Given the description of an element on the screen output the (x, y) to click on. 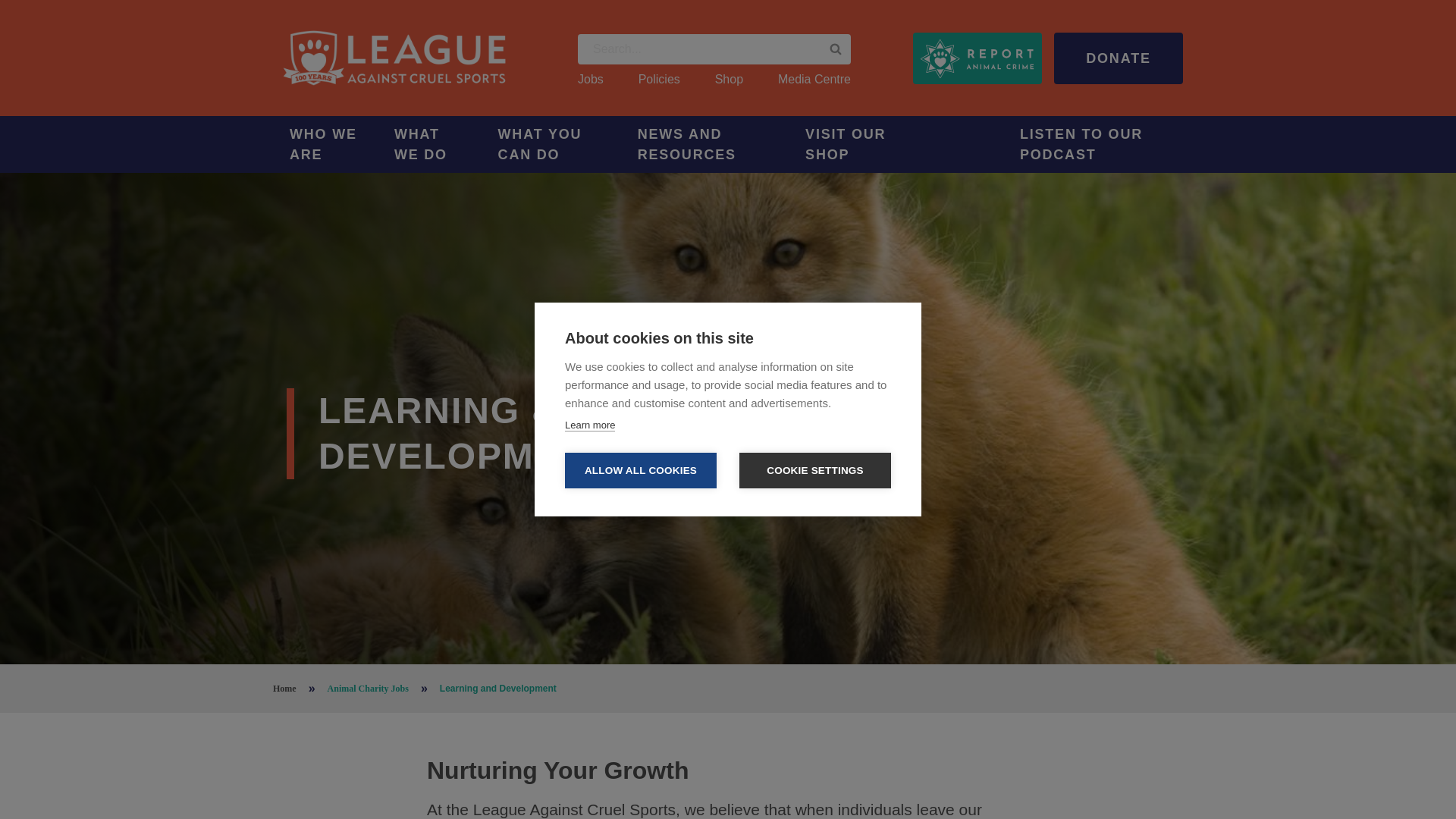
Donate (1118, 58)
Shop (728, 79)
COOKIE SETTINGS (815, 470)
Policies (659, 79)
Media Centre (813, 79)
Jobs (591, 79)
Learn more (589, 425)
ALLOW ALL COOKIES (640, 470)
Submit (835, 49)
Home (394, 58)
Media Centre (813, 79)
Policies (659, 79)
Shop (728, 79)
Report an Animal Crime (977, 58)
WHO WE ARE (325, 144)
